Given the description of an element on the screen output the (x, y) to click on. 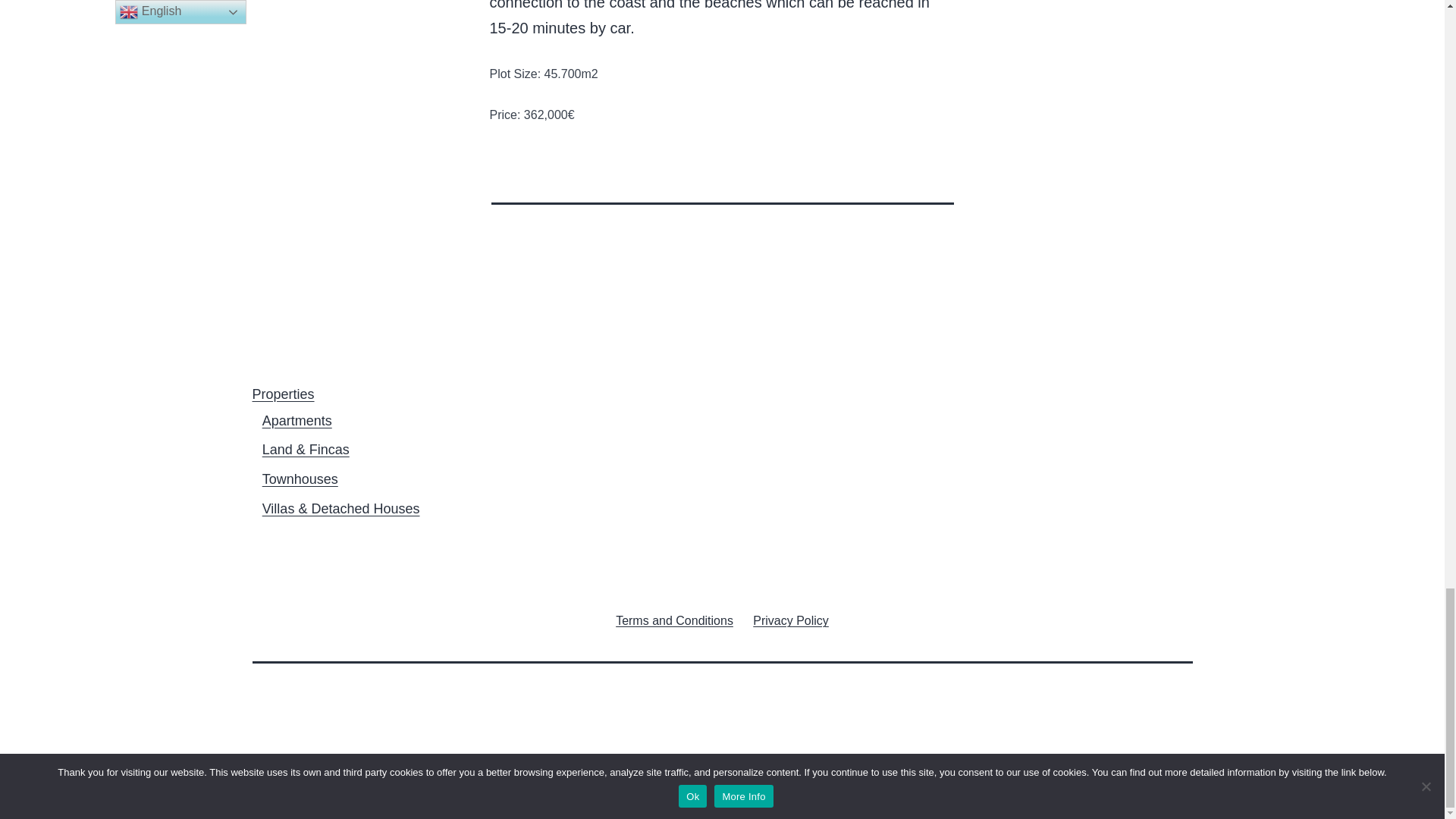
Apartments (296, 420)
Terms and Conditions (673, 620)
Privacy Policy (790, 620)
Properties (282, 394)
Townhouses (299, 478)
